Given the description of an element on the screen output the (x, y) to click on. 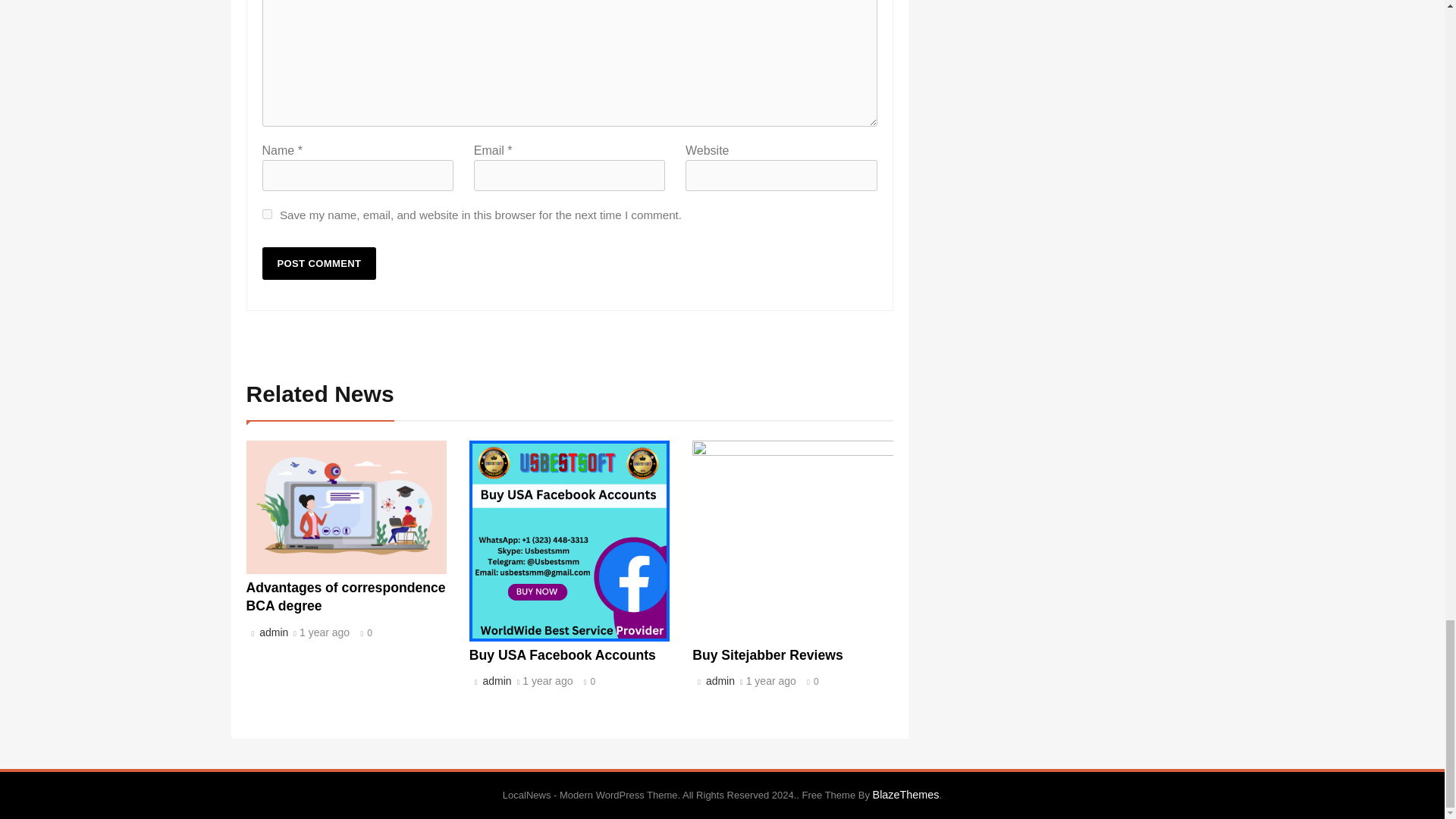
yes (267, 214)
Post Comment (319, 263)
